Given the description of an element on the screen output the (x, y) to click on. 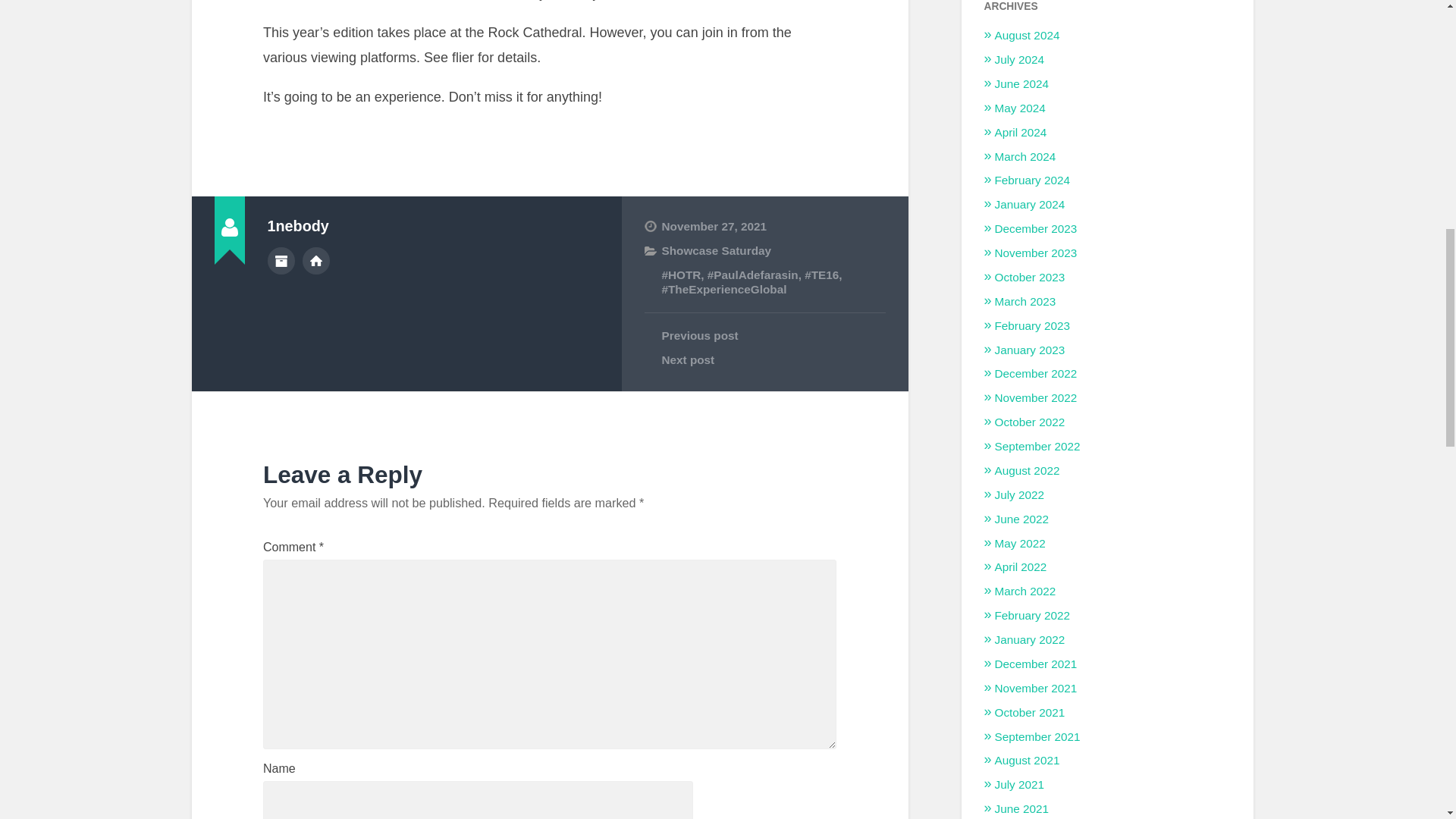
Showcase Saturday (716, 250)
Previous post (765, 335)
Author website (316, 260)
Next post (765, 359)
Author archive (280, 260)
